Given the description of an element on the screen output the (x, y) to click on. 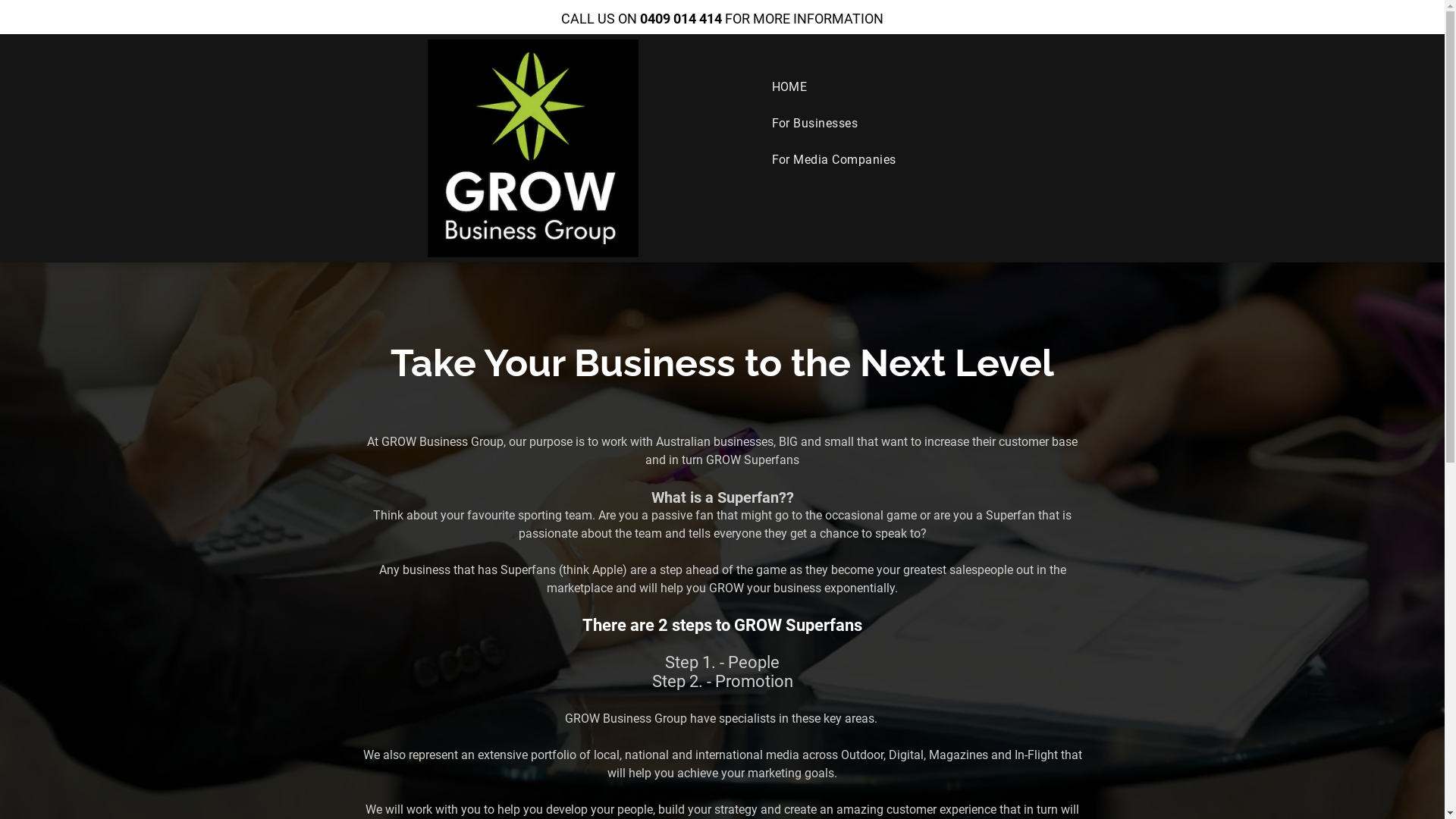
For Businesses Element type: text (916, 123)
HOME Element type: text (916, 87)
For Media Companies Element type: text (916, 159)
